Given the description of an element on the screen output the (x, y) to click on. 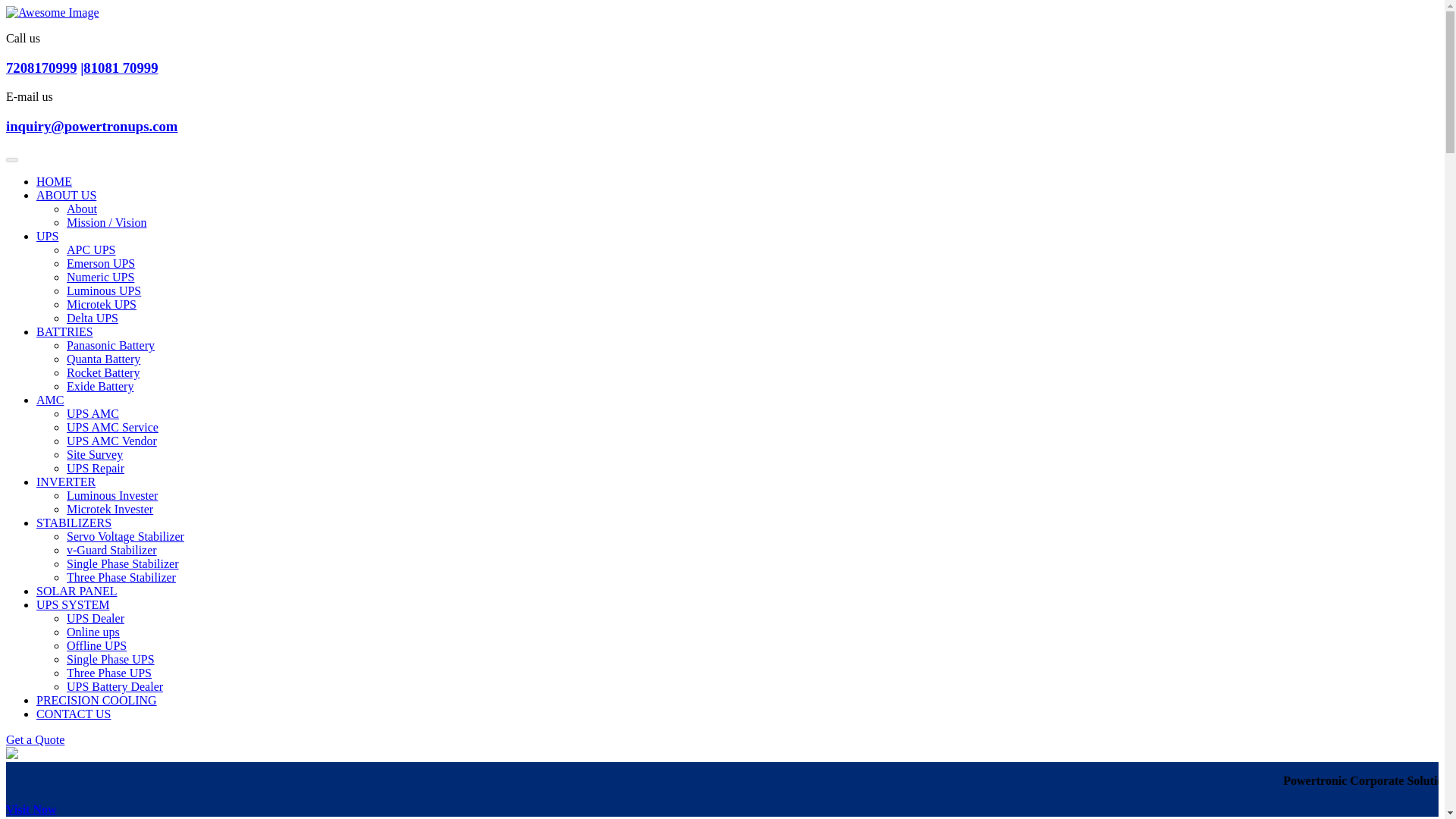
AMC (50, 399)
Microtek Invester (109, 508)
Panasonic Battery (110, 345)
Numeric UPS (99, 277)
UPS SYSTEM (72, 604)
ABOUT US (66, 195)
Luminous UPS (103, 290)
HOME (53, 181)
Offline UPS (96, 645)
UPS AMC Service (112, 427)
UPS Dealer (94, 617)
7208170999 (41, 67)
Emerson UPS (100, 263)
Servo Voltage Stabilizer (125, 535)
About (81, 208)
